Given the description of an element on the screen output the (x, y) to click on. 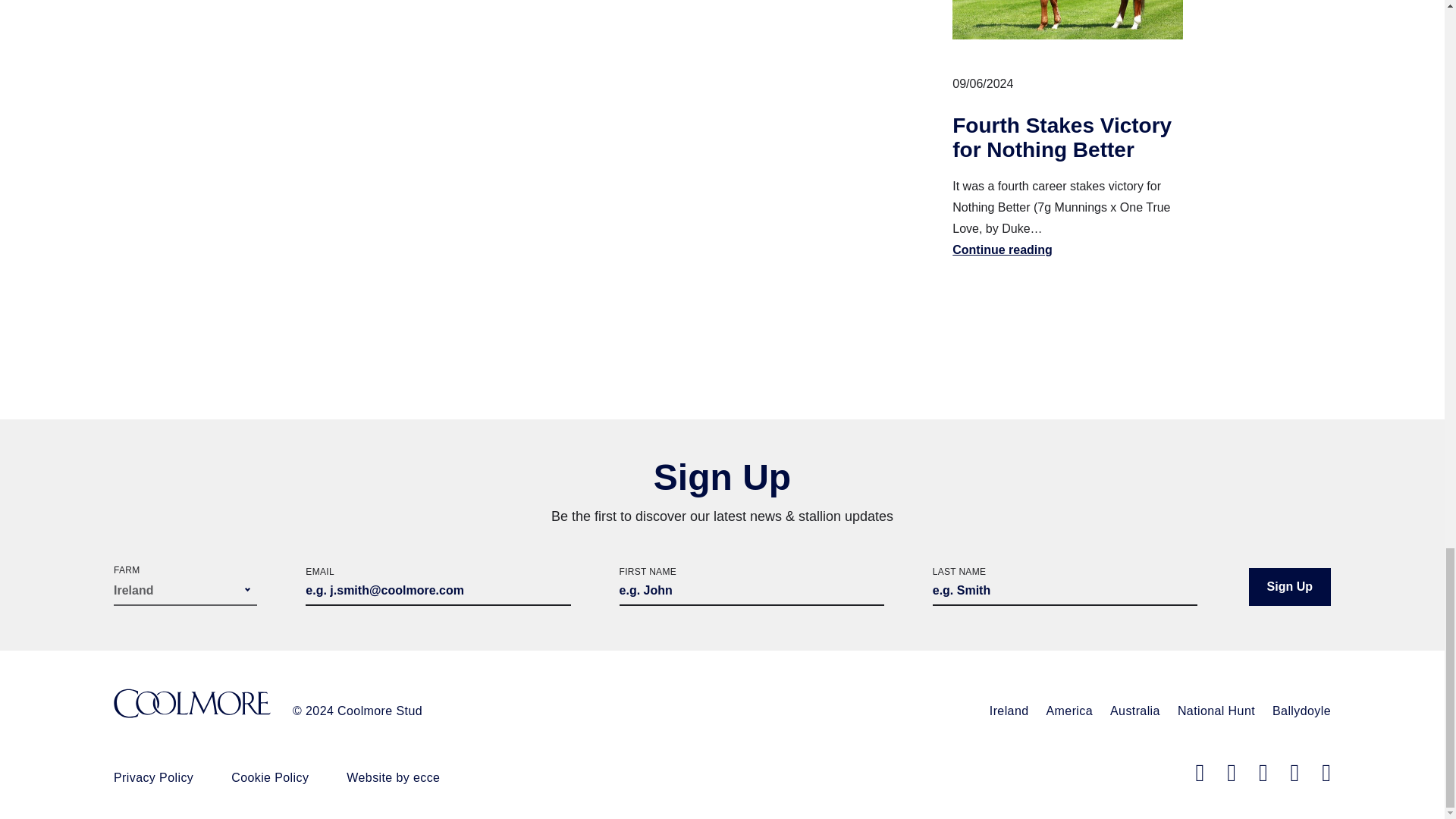
Website by ecce (392, 777)
Sign Up (1289, 587)
Coolmore (191, 704)
Australia (1134, 710)
America (1069, 710)
Ireland (1009, 710)
National Hunt (1216, 710)
Ballydoyle (1301, 710)
Privacy Policy (153, 777)
Cookie Policy (269, 777)
